Given the description of an element on the screen output the (x, y) to click on. 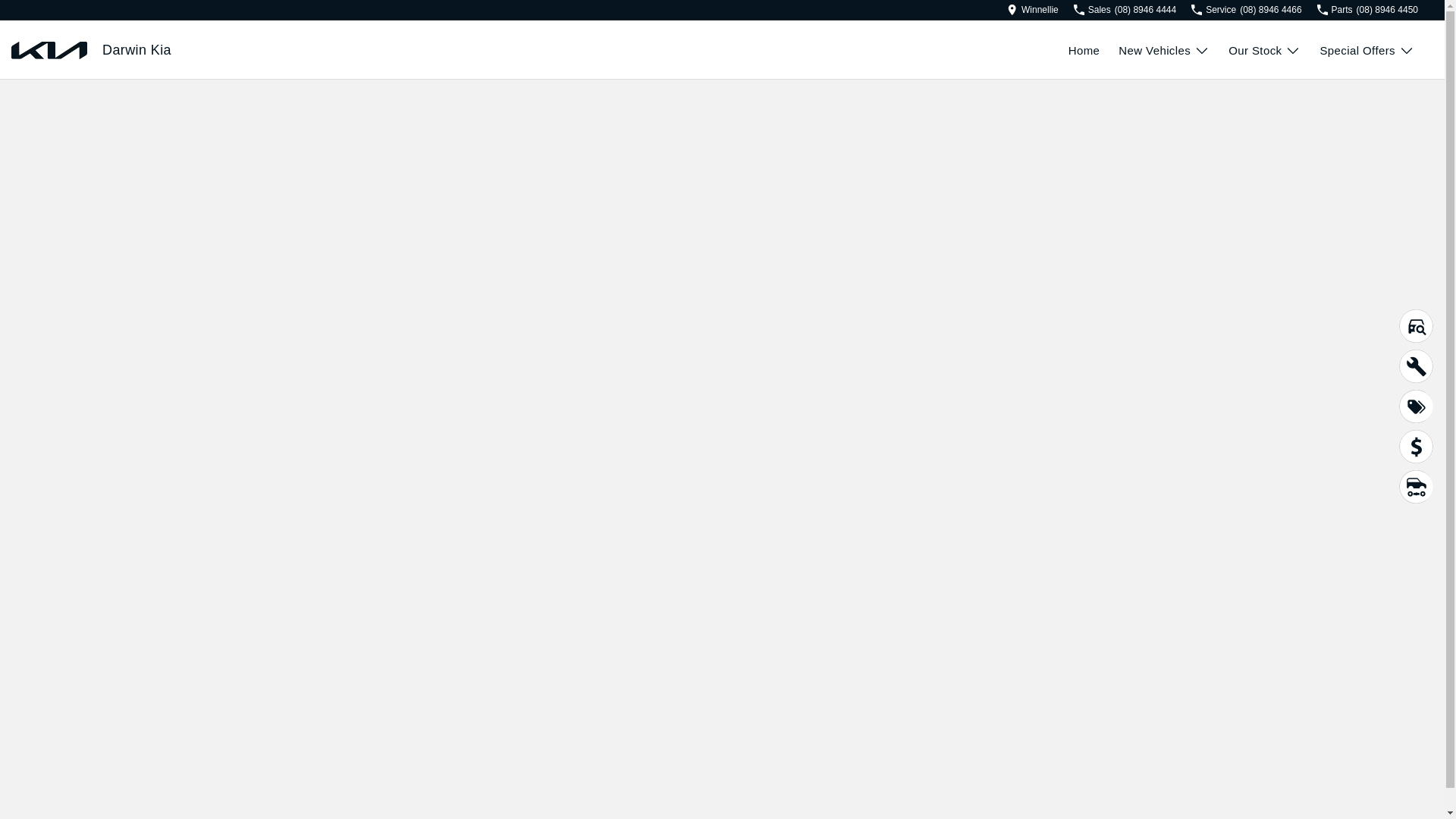
Our Stock Element type: text (1264, 49)
Service
(08) 8946 4466 Element type: text (1246, 9)
New Vehicles Element type: text (1163, 49)
Home Element type: text (1093, 49)
Winnellie Element type: text (1032, 9)
Special Offers Element type: text (1366, 49)
Parts
(08) 8946 4450 Element type: text (1367, 9)
Darwin Kia Element type: text (136, 50)
Sales
(08) 8946 4444 Element type: text (1124, 9)
